Given the description of an element on the screen output the (x, y) to click on. 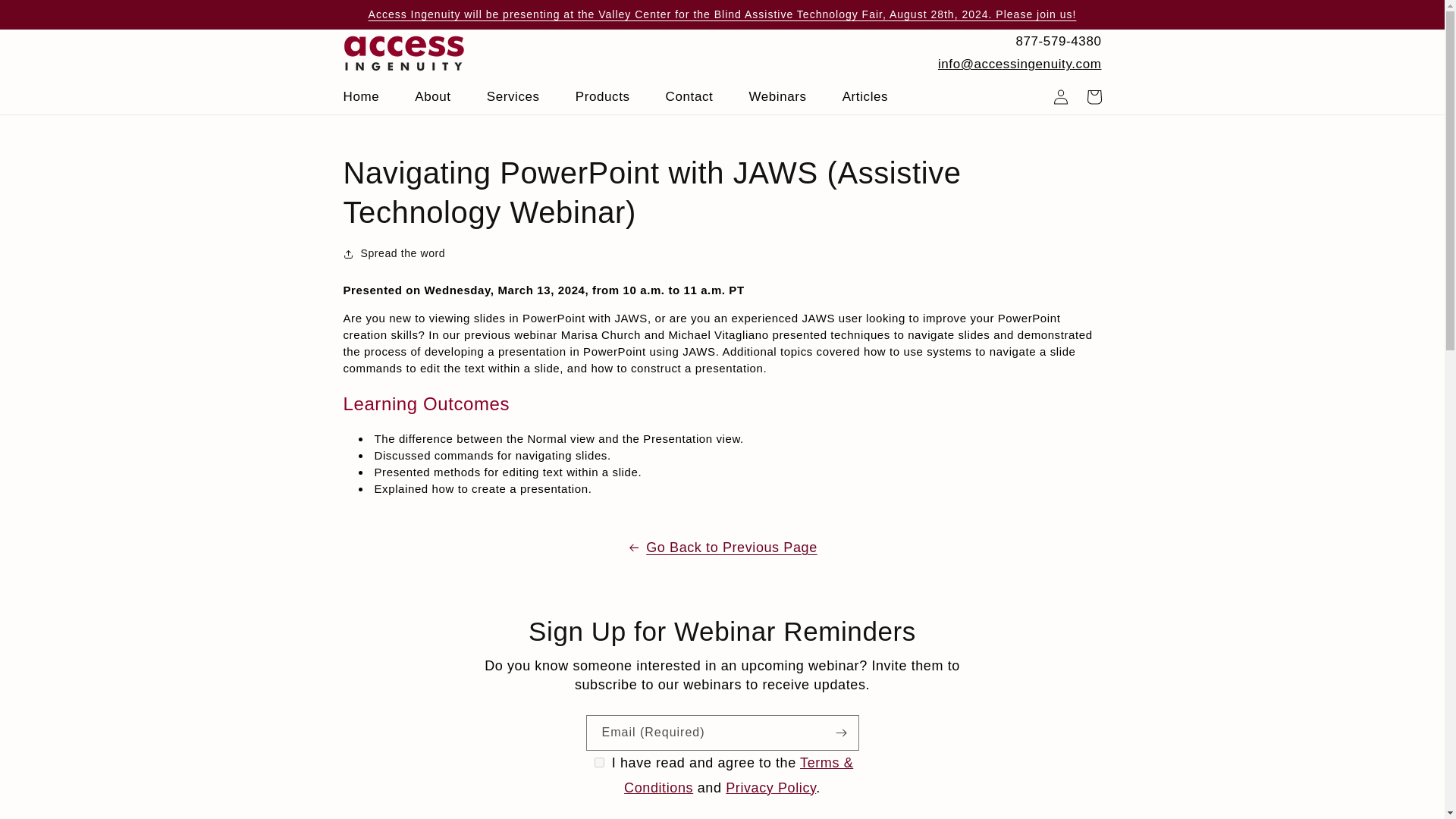
Articles (873, 99)
About (441, 99)
Cart (1093, 96)
Skip to content (45, 17)
Home (369, 99)
Services (521, 99)
877-579-4380 (1019, 42)
Products (611, 99)
Webinars (785, 99)
Privacy Policy (770, 787)
Contact (697, 99)
Log in (1060, 96)
